Given the description of an element on the screen output the (x, y) to click on. 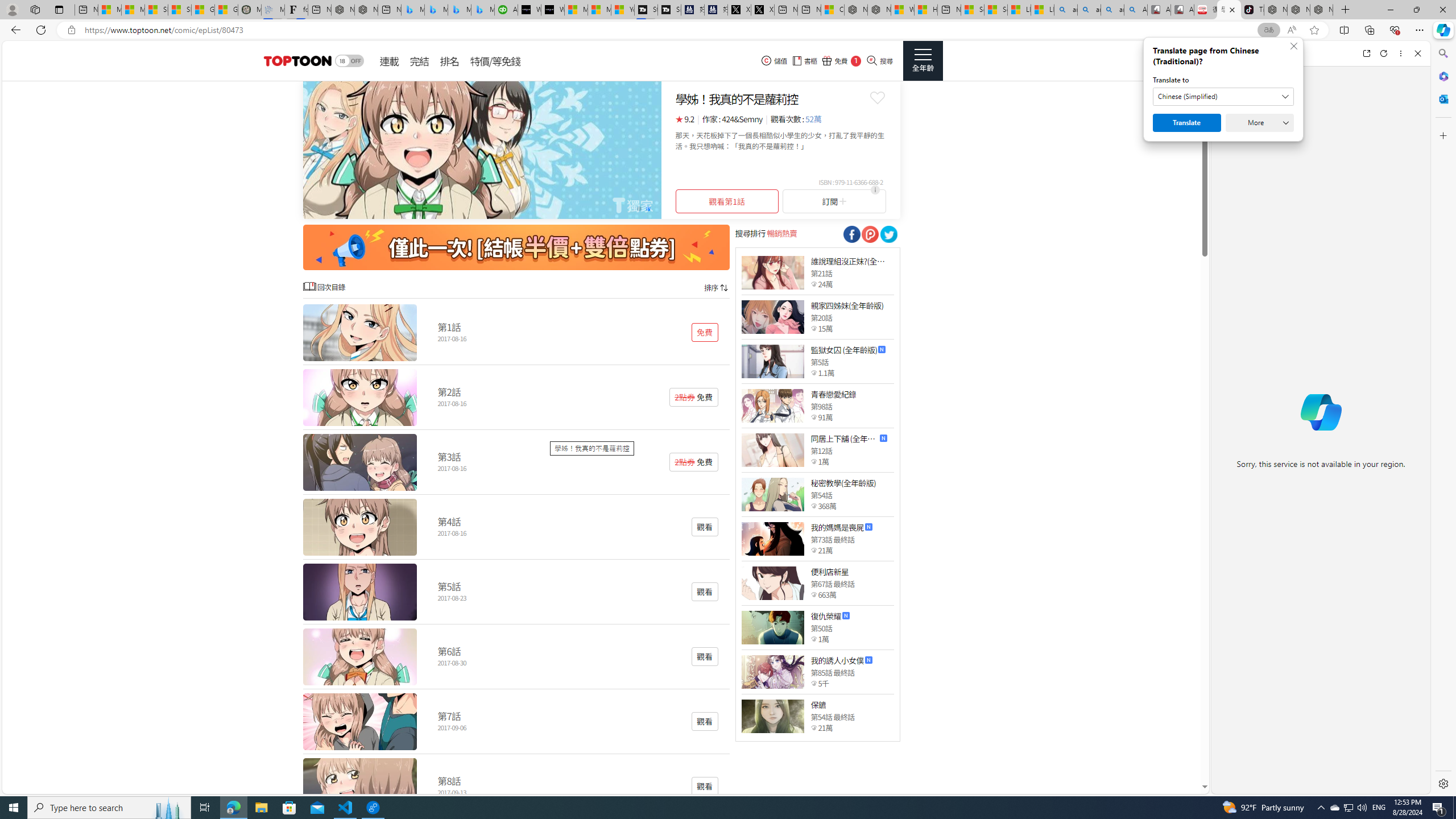
Microsoft Bing Travel - Shangri-La Hotel Bangkok (482, 9)
Class:  switch_18mode actionAdultBtn (349, 60)
Nordace Siena Pro 15 Backpack (1298, 9)
